Given the description of an element on the screen output the (x, y) to click on. 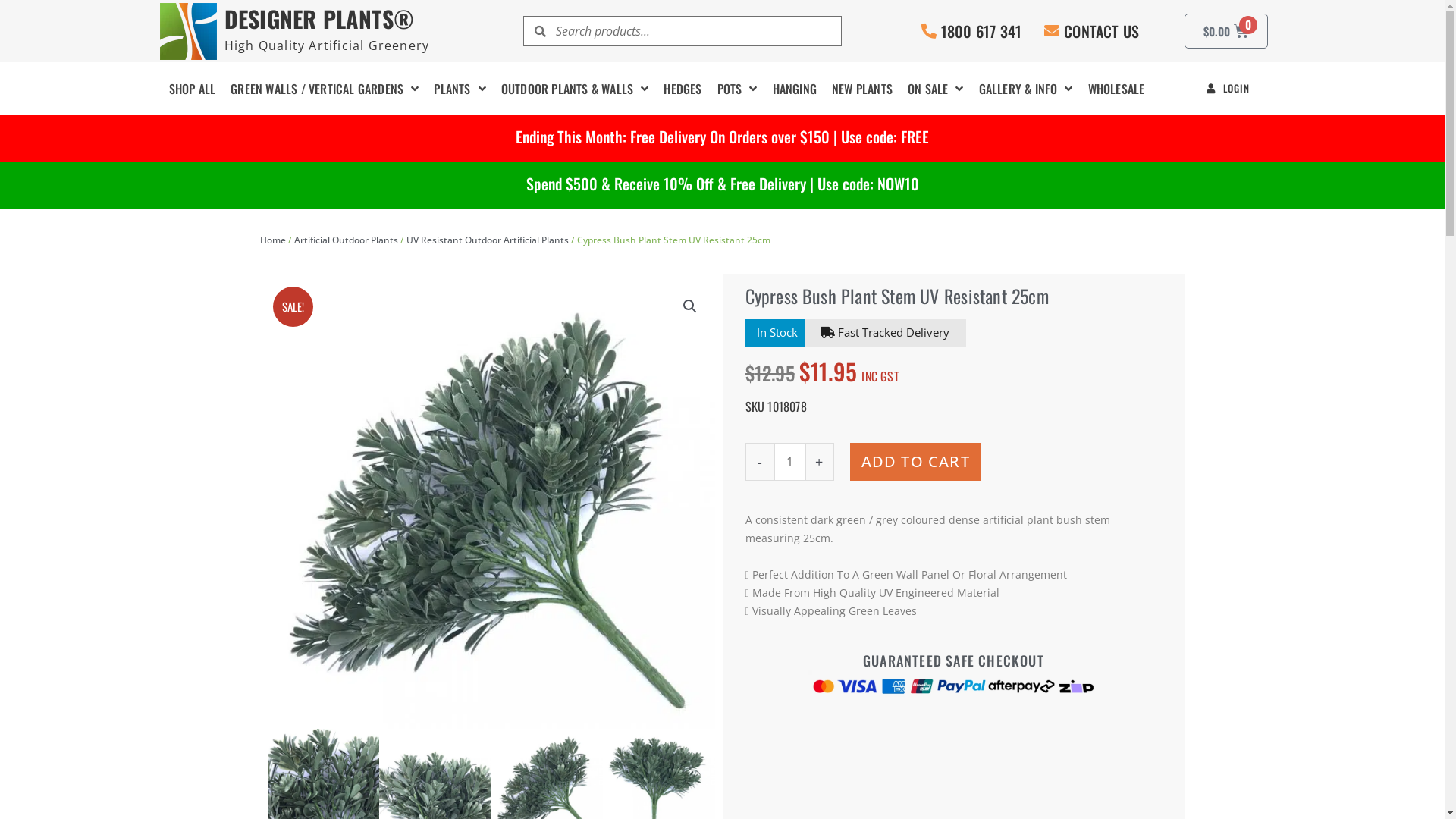
GALLERY & INFO Element type: text (1025, 88)
Artificial Outdoor Plants Element type: text (346, 239)
CONTACT US Element type: text (1101, 30)
ADD TO CART Element type: text (915, 461)
LOGIN Element type: text (1223, 87)
1800 617 341 Element type: text (981, 30)
HEDGES Element type: text (682, 88)
GREEN WALLS / VERTICAL GARDENS Element type: text (324, 88)
ON SALE Element type: text (935, 88)
POTS Element type: text (737, 88)
$0.00
0
CART Element type: text (1226, 30)
NEW PLANTS Element type: text (862, 88)
UV Resistant Outdoor Artificial Plants Element type: text (487, 239)
Home Element type: text (272, 239)
OUTDOOR PLANTS & WALLS Element type: text (574, 88)
PLANTS Element type: text (459, 88)
Acacia / Cypress artificial plant stem 25cm Element type: hover (490, 504)
+ Element type: text (819, 461)
SHOP ALL Element type: text (191, 88)
- Element type: text (758, 461)
WHOLESALE Element type: text (1116, 88)
DP-Logo-icon Element type: hover (188, 31)
HANGING Element type: text (794, 88)
